Given the description of an element on the screen output the (x, y) to click on. 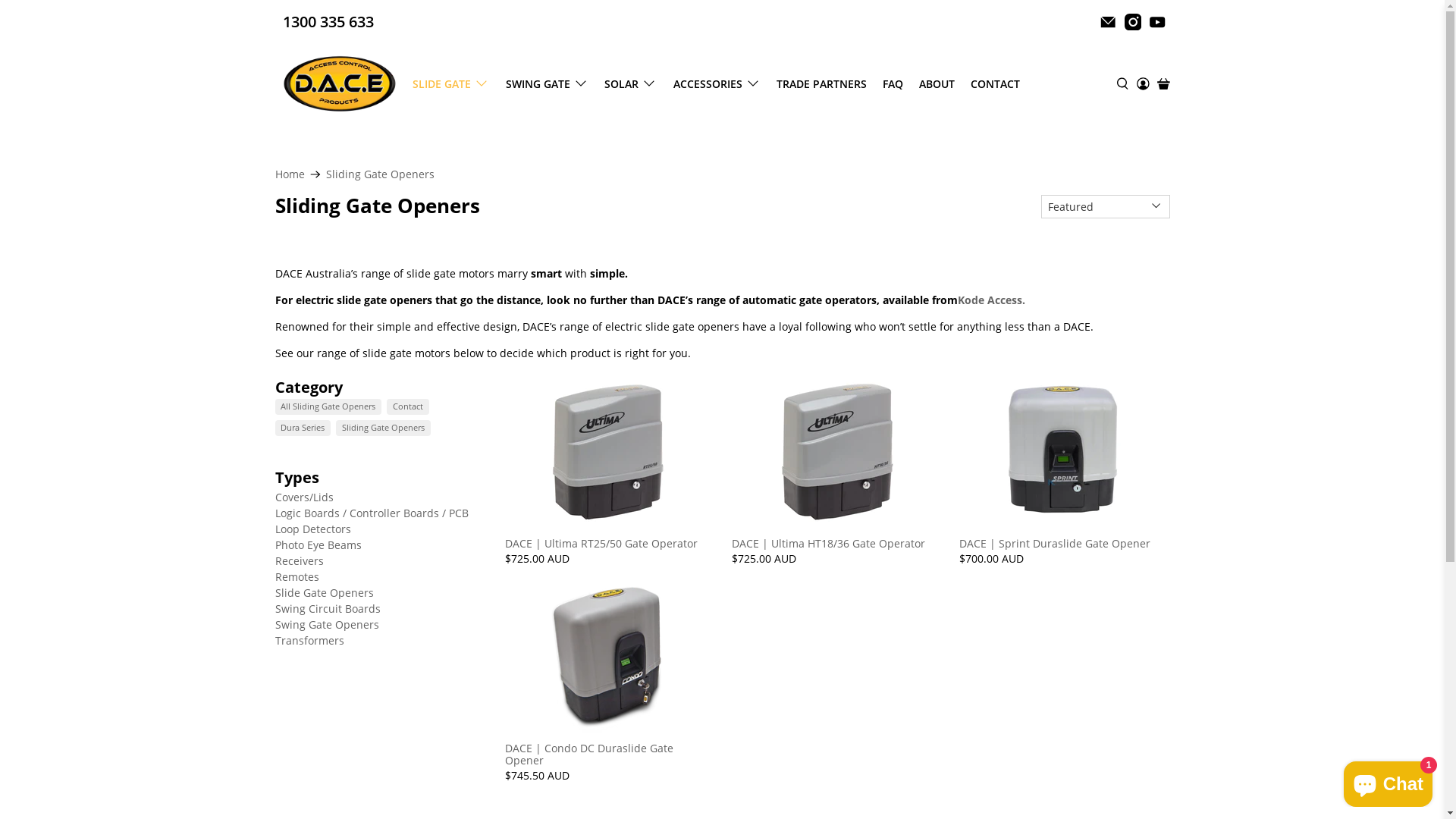
Shopify online store chat Element type: hover (1388, 780)
SWING GATE Element type: text (546, 83)
DACE | Ultima RT25/50 Gate Operator Element type: text (608, 542)
Home Element type: text (289, 173)
Dura Series Element type: text (302, 428)
Photo Eye Beams Element type: text (317, 544)
Sliding Gate Openers Element type: text (383, 428)
SOLAR Element type: text (630, 83)
Loop Detectors Element type: text (312, 528)
ACCESSORIES Element type: text (716, 83)
All Sliding Gate Openers Element type: text (327, 407)
Email DACE Australia Element type: hover (1107, 21)
SLIDE GATE Element type: text (451, 83)
Kode Access. Element type: text (990, 299)
DACE | Sprint Duraslide Gate Opener Element type: text (1063, 542)
Covers/Lids Element type: text (303, 496)
DACE Australia on YouTube Element type: hover (1156, 21)
Swing Circuit Boards Element type: text (326, 608)
ABOUT Element type: text (937, 83)
DACE | Ultima HT18/36 Gate Operator Element type: text (835, 542)
DACE | Condo DC Duraslide Gate Opener Element type: text (608, 754)
FAQ Element type: text (893, 83)
Swing Gate Openers Element type: text (326, 624)
DACE Australia on Instagram Element type: hover (1132, 21)
CONTACT Element type: text (995, 83)
Slide Gate Openers Element type: text (323, 592)
TRADE PARTNERS Element type: text (821, 83)
Transformers Element type: text (308, 640)
Remotes Element type: text (296, 576)
Sliding Gate Openers Element type: text (380, 173)
Receivers Element type: text (298, 560)
Logic Boards / Controller Boards / PCB Element type: text (370, 512)
Contact Element type: text (407, 407)
DACE Australia Element type: hover (339, 83)
1300 335 633 Element type: text (327, 21)
